Given the description of an element on the screen output the (x, y) to click on. 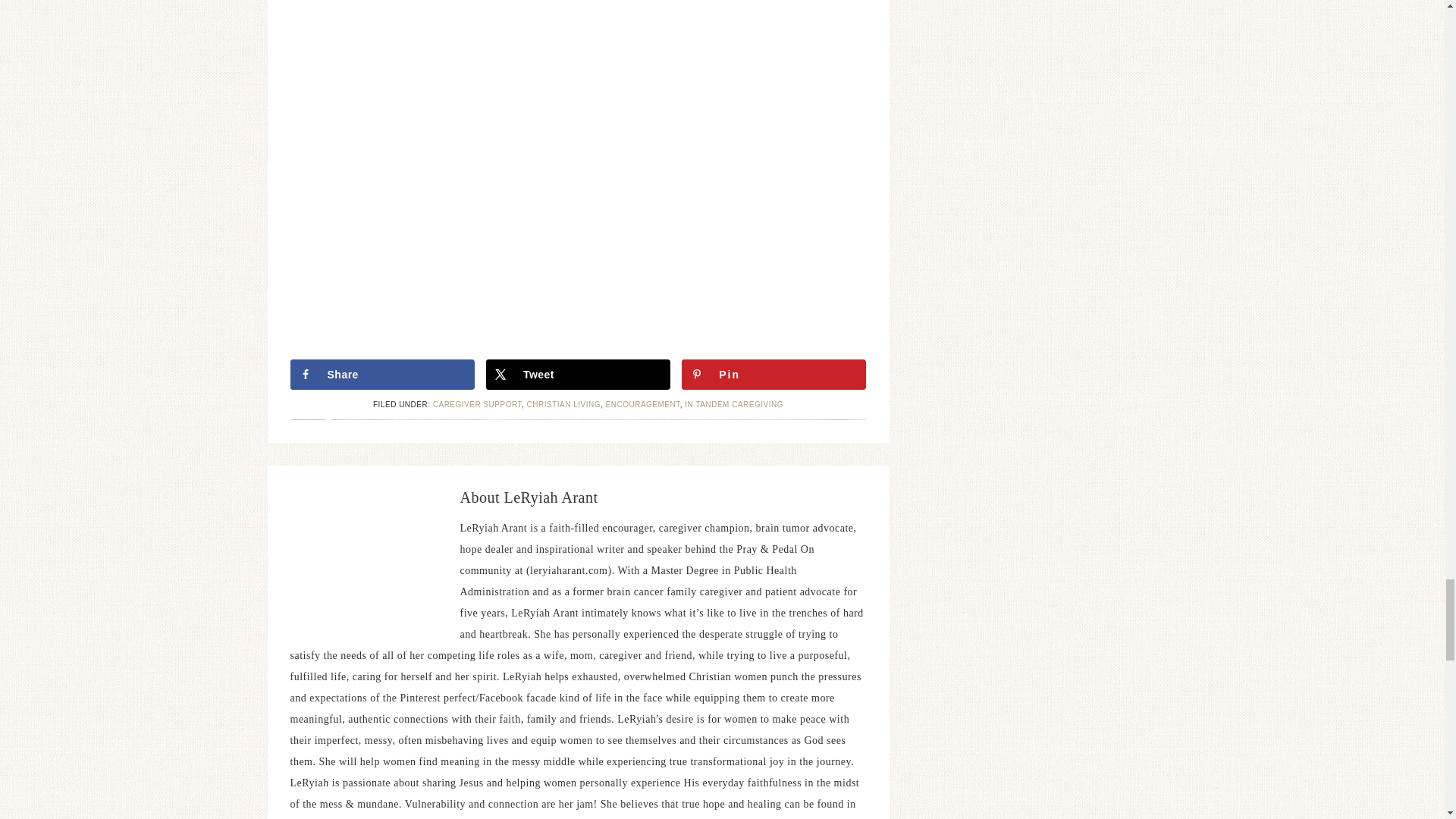
Save to Pinterest (773, 374)
Share on Facebook (381, 374)
Share on X (577, 374)
